Given the description of an element on the screen output the (x, y) to click on. 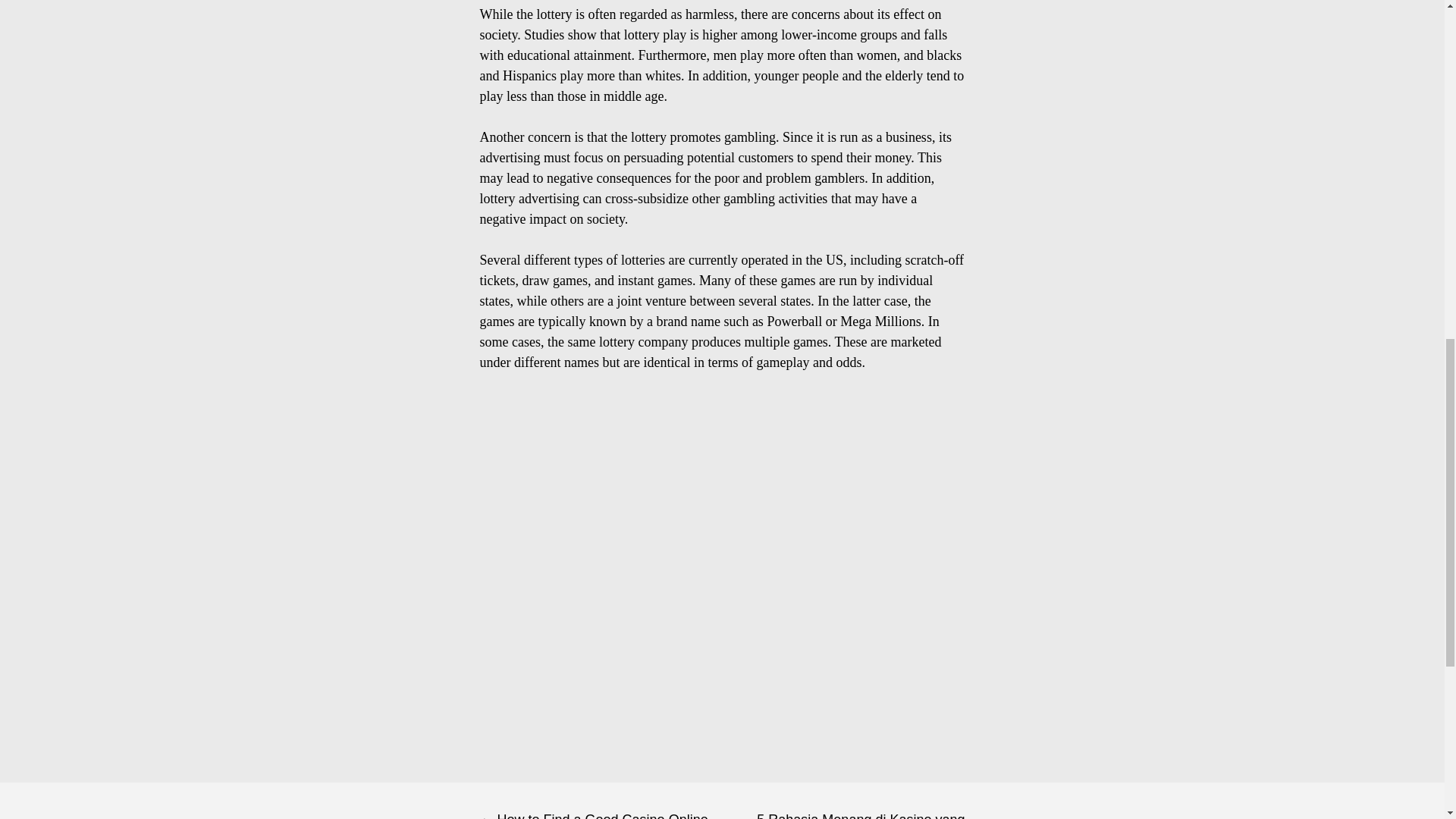
How to Find a Good Casino Online (600, 800)
5 Rahasia Menang di Kasino yang Harus Diketahui (842, 800)
